Given the description of an element on the screen output the (x, y) to click on. 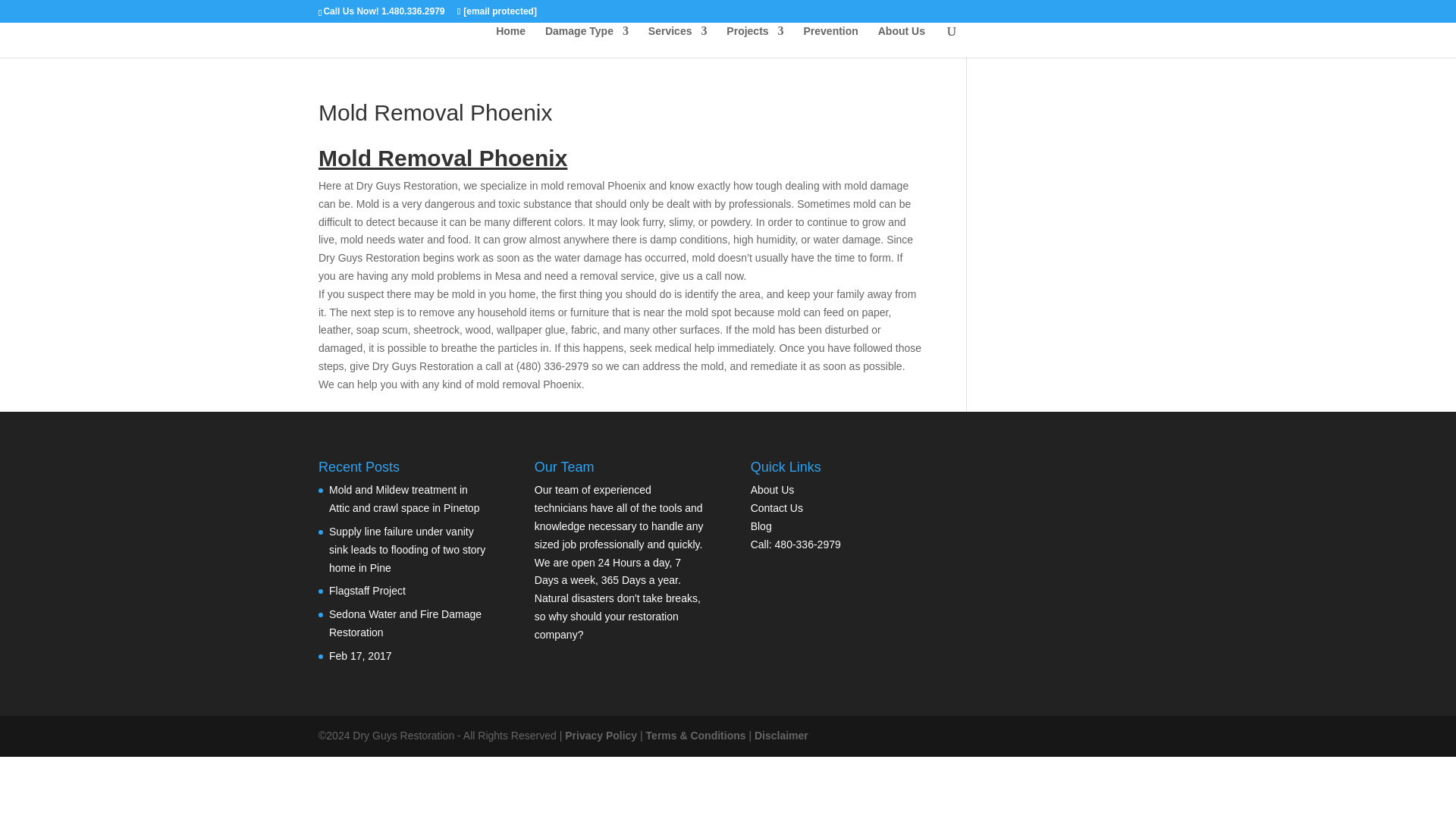
Call: 480-336-2979 (796, 544)
About Us (772, 490)
Disclaimer (781, 735)
Contact Us (777, 508)
Sedona Water and Fire Damage Restoration (405, 623)
About Us (900, 41)
Damage Type (586, 41)
Blog (761, 526)
Services (677, 41)
